Given the description of an element on the screen output the (x, y) to click on. 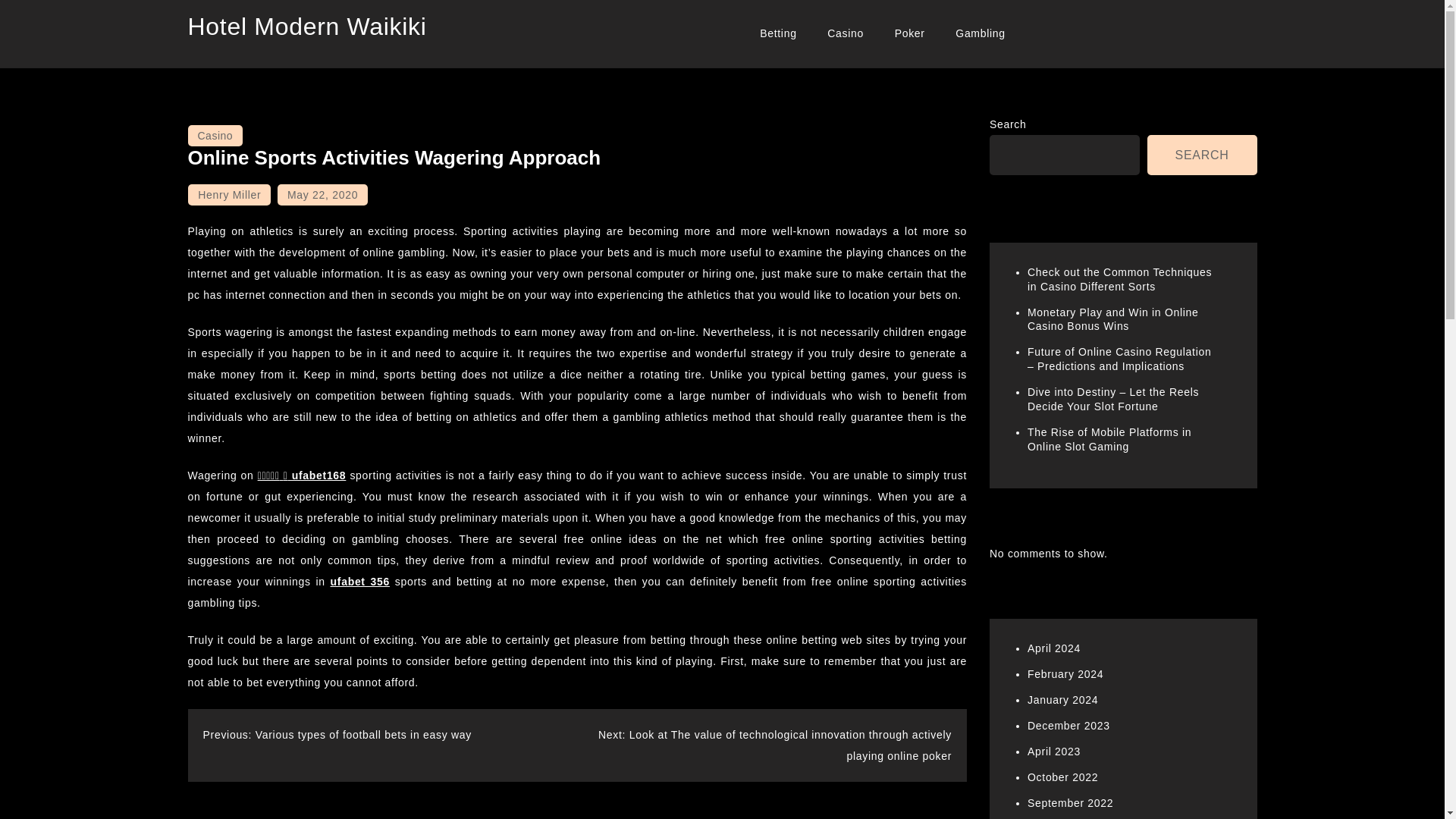
Hotel Modern Waikiki (306, 26)
February 2024 (1065, 674)
SEARCH (1202, 155)
ufabet 356 (360, 581)
April 2024 (1053, 648)
October 2022 (1062, 776)
December 2023 (1068, 725)
Casino (845, 33)
April 2023 (1053, 751)
May 22, 2020 (323, 194)
Previous: Various types of football bets in easy way (337, 734)
Henry Miller (228, 194)
September 2022 (1070, 802)
Check out the Common Techniques in Casino Different Sorts (1119, 279)
Gambling (980, 33)
